Given the description of an element on the screen output the (x, y) to click on. 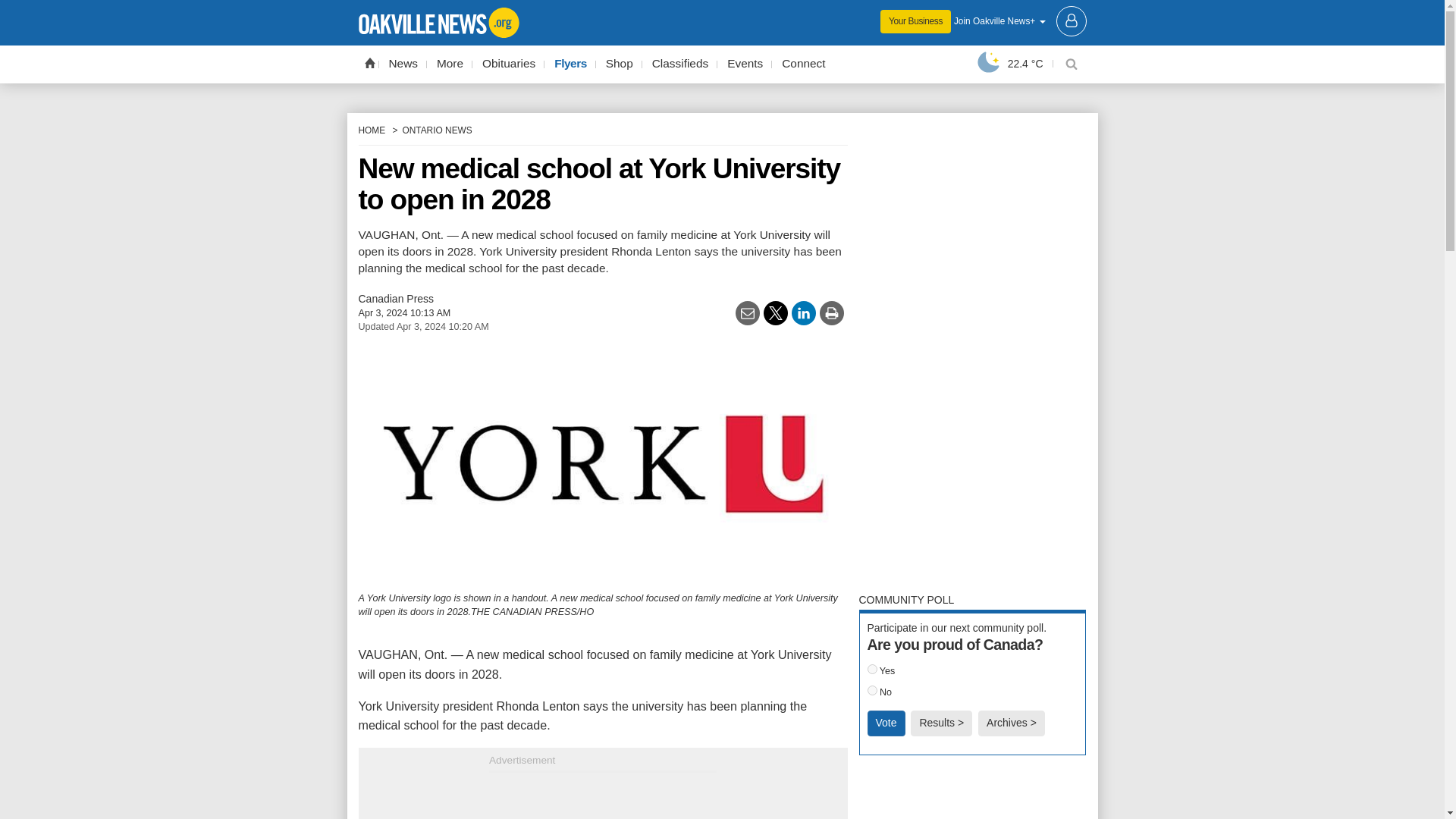
Your Business (915, 21)
News (403, 64)
122183 (872, 690)
122182 (872, 669)
Home (368, 62)
3rd party ad content (602, 796)
3rd party ad content (972, 794)
3rd party ad content (722, 10)
